Given the description of an element on the screen output the (x, y) to click on. 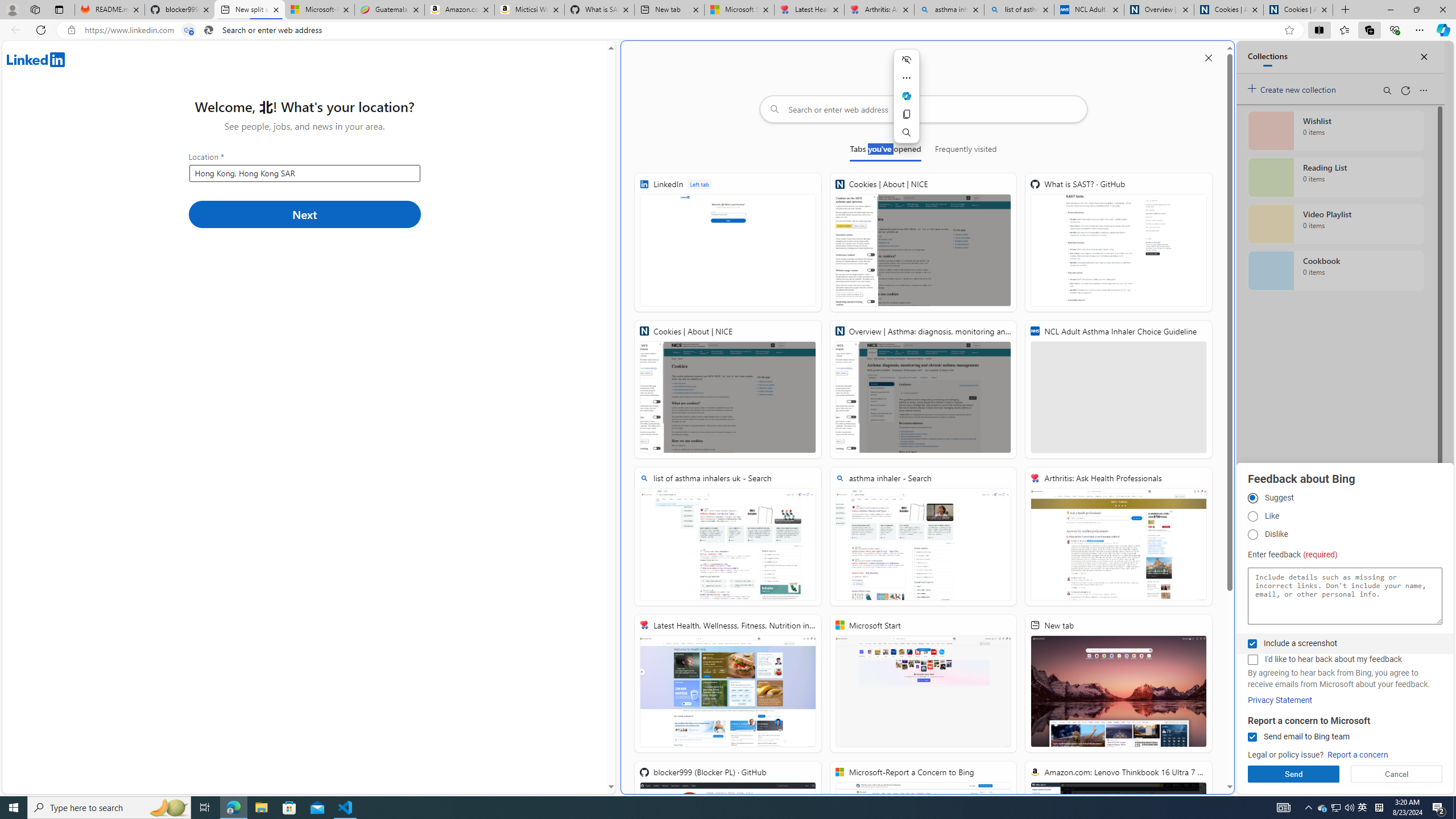
More actions (905, 77)
Cookies | About | NICE (1297, 9)
Report a concern (1358, 755)
Mini menu on text selection (906, 103)
Close split screen (1208, 57)
Send (1293, 773)
